Given the description of an element on the screen output the (x, y) to click on. 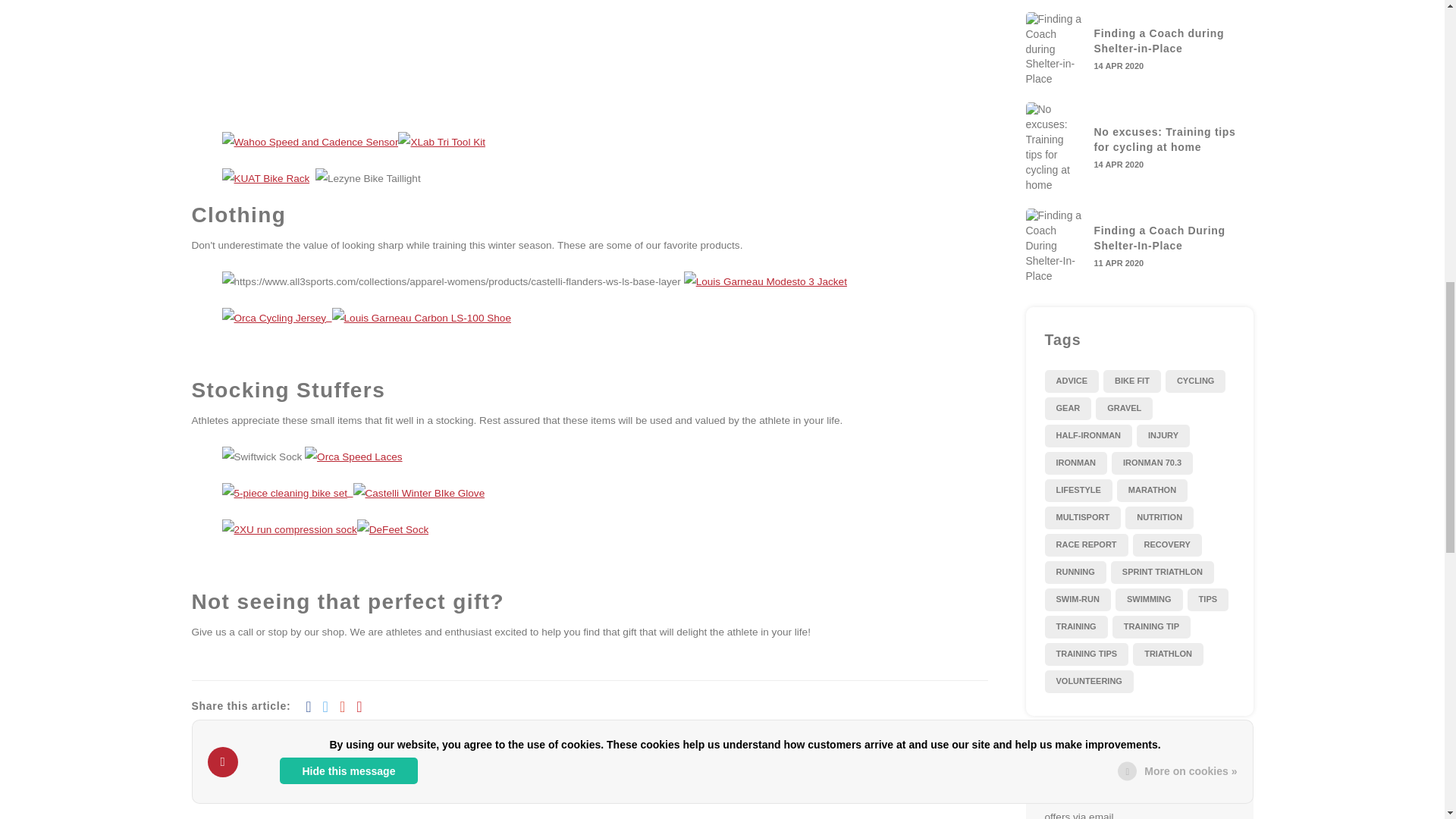
XLab Tri Tool Kit (440, 141)
Louis Garneau LS-100 Shoe (421, 317)
DeFeet Sock (392, 528)
KUAT Bike Rack (264, 177)
Orca Cycling Jersey (276, 317)
Castelli Perfetto Glove (418, 491)
ORCA Swim Buoy (507, 23)
Wahoo Speed and Cadence Sensor (309, 141)
Louis Garneau Modesto 3 Jacket (765, 280)
Time Crunched Athlete Book (315, 23)
Orca Speed Laces (352, 455)
5- piece bike cleaning set (286, 491)
2XU Run Compression Sock (288, 528)
